Given the description of an element on the screen output the (x, y) to click on. 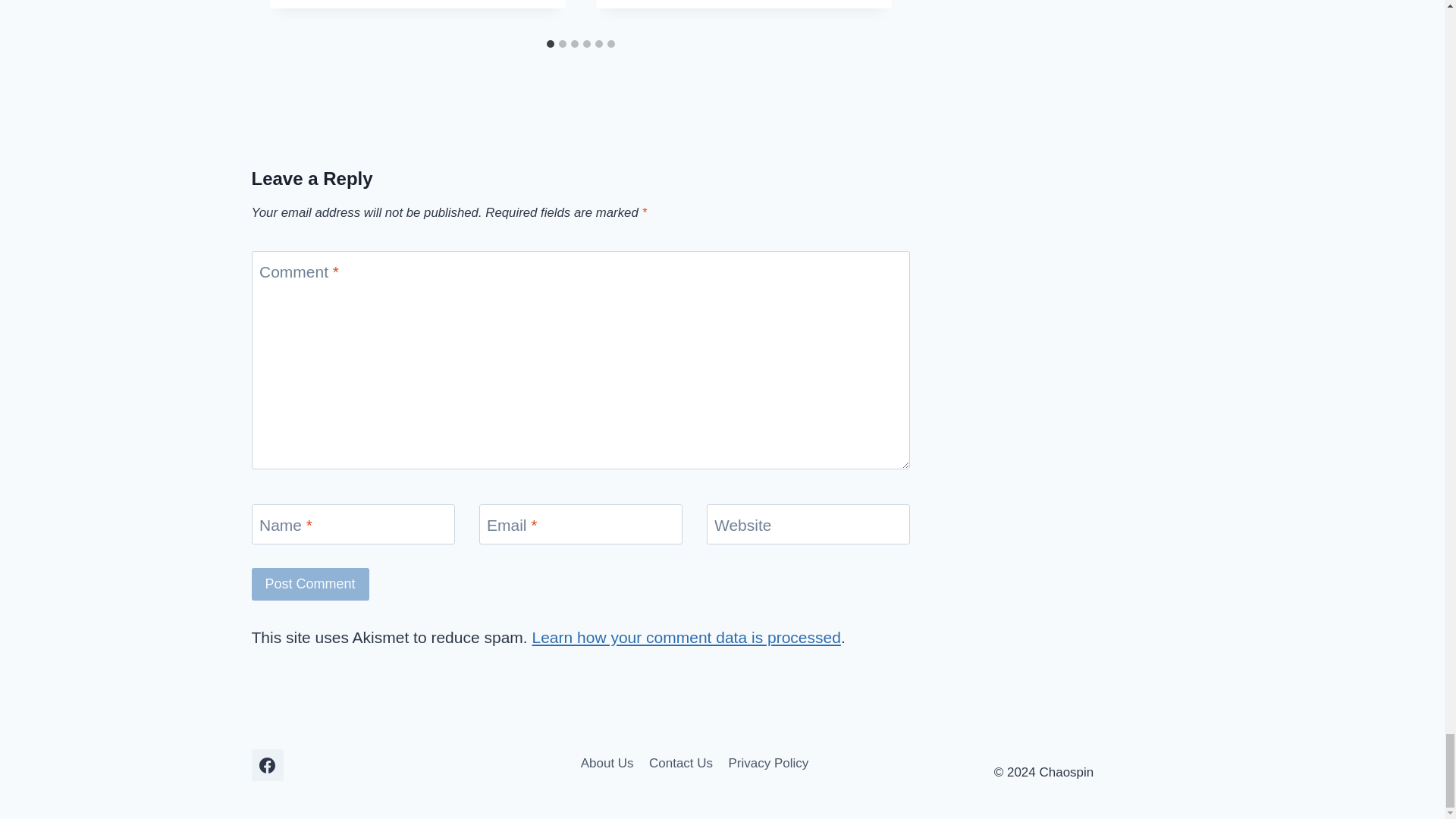
Post Comment (310, 584)
